Given the description of an element on the screen output the (x, y) to click on. 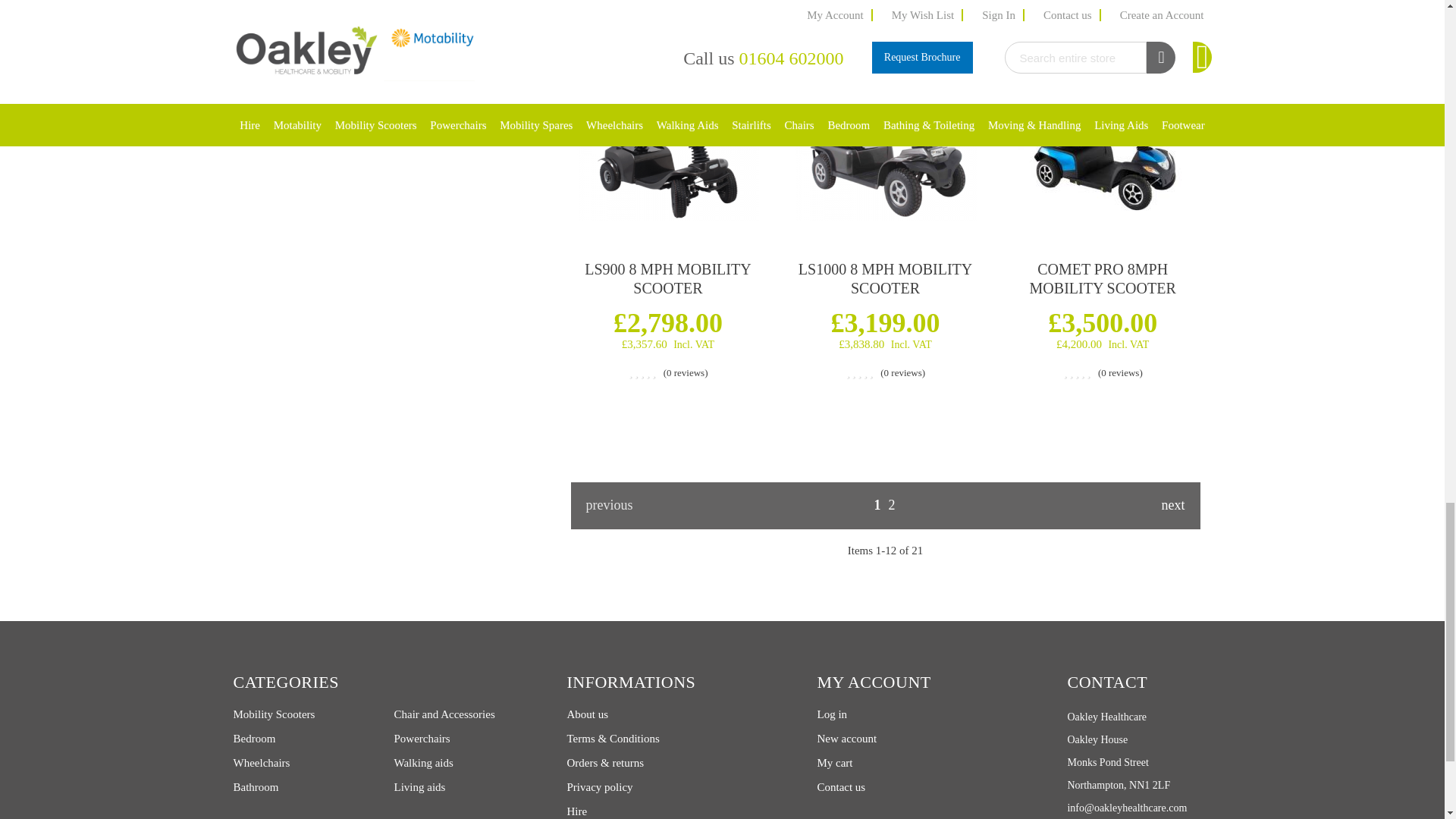
Previous (616, 504)
Next (1154, 504)
